Given the description of an element on the screen output the (x, y) to click on. 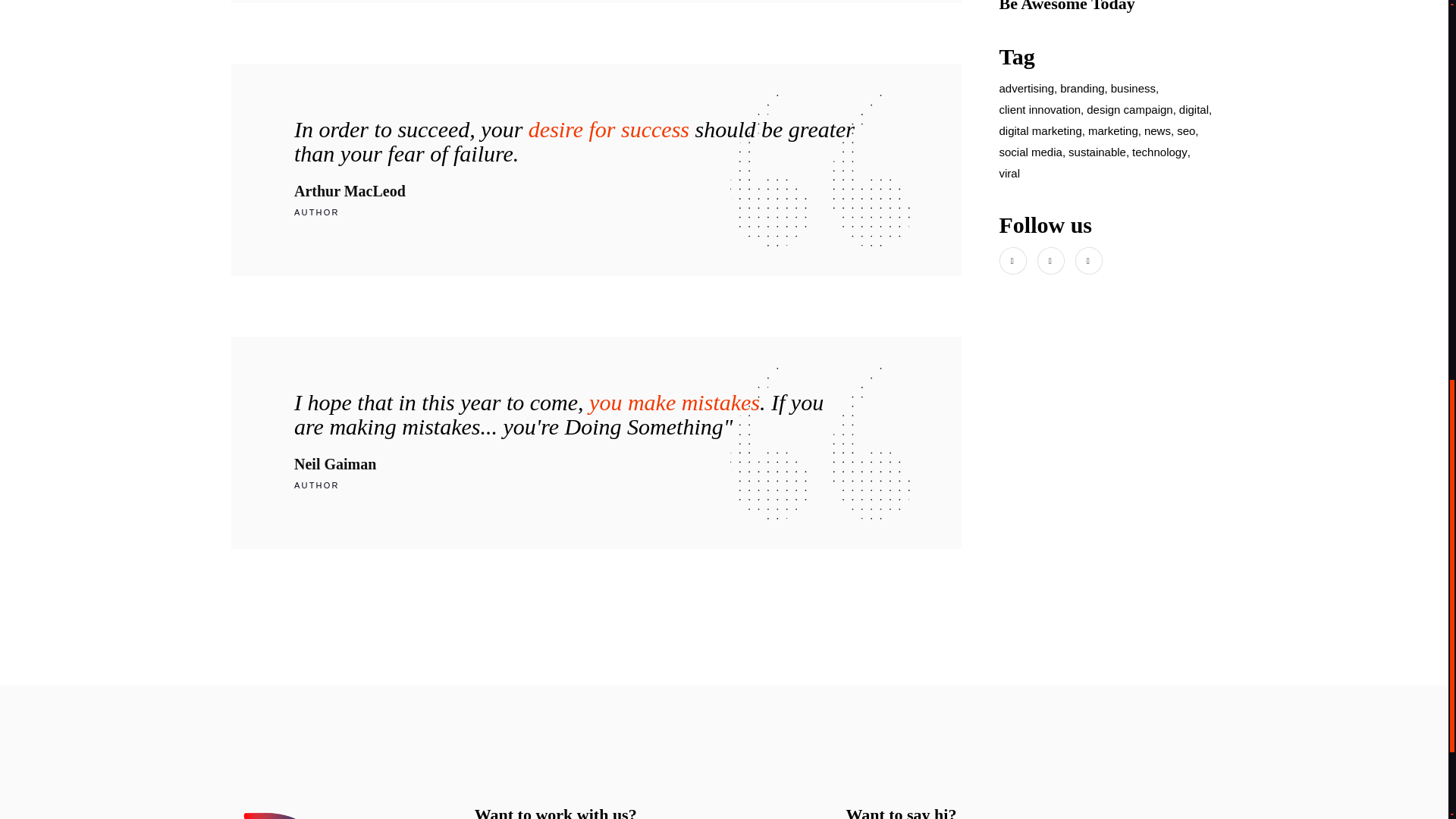
client innovation (1039, 109)
digital (1193, 109)
design campaign (1129, 109)
digital marketing (1039, 130)
Be Awesome Today (1066, 6)
advertising (1026, 88)
business (1133, 88)
marketing (1112, 130)
news (1157, 130)
branding (1081, 88)
